Given the description of an element on the screen output the (x, y) to click on. 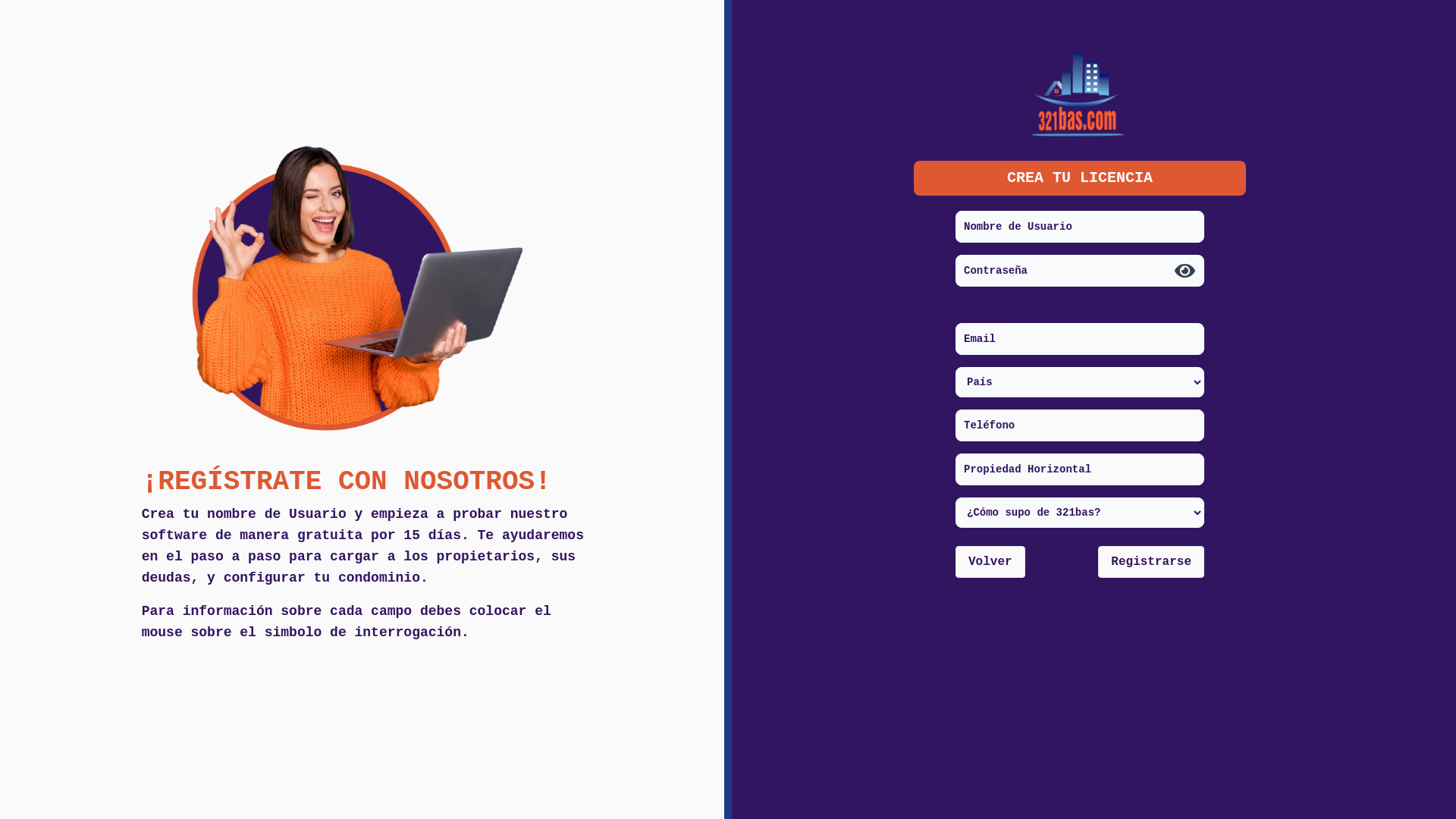
Volver Element type: text (990, 561)
Registrarse Element type: text (1151, 561)
